Given the description of an element on the screen output the (x, y) to click on. 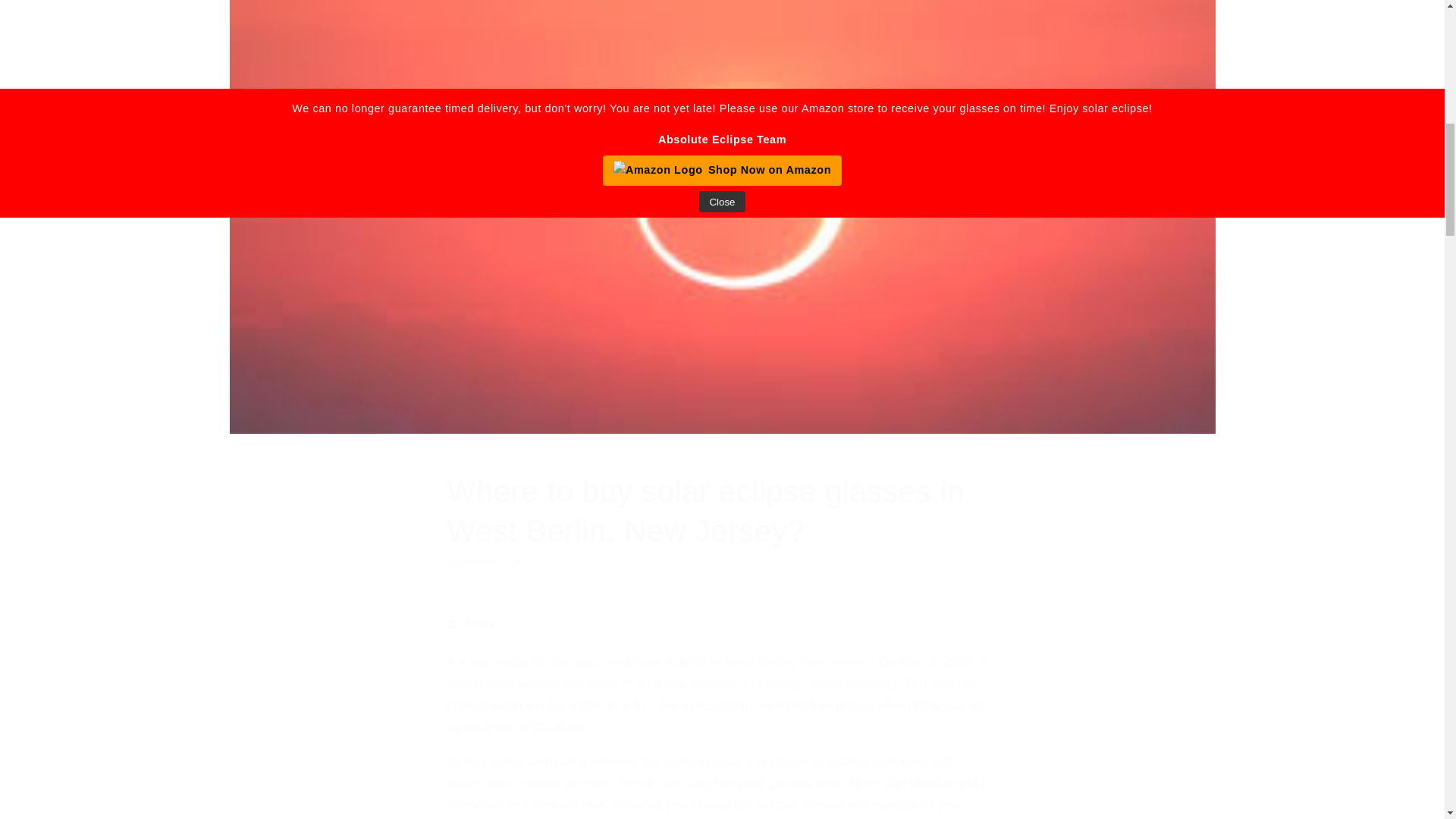
Share (721, 622)
